Given the description of an element on the screen output the (x, y) to click on. 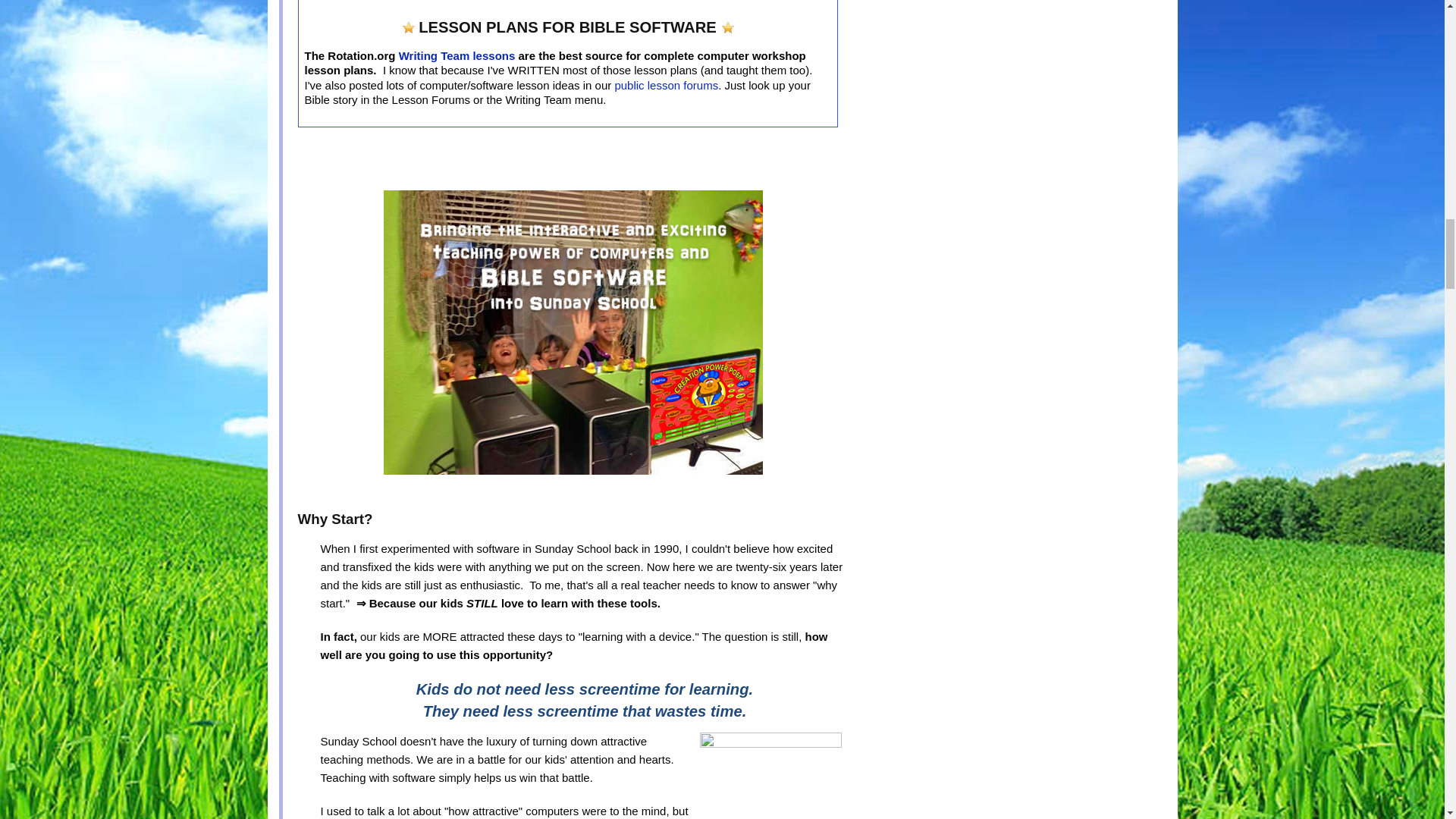
PowerofComputers (573, 332)
s1 (727, 28)
s1 (408, 28)
